Given the description of an element on the screen output the (x, y) to click on. 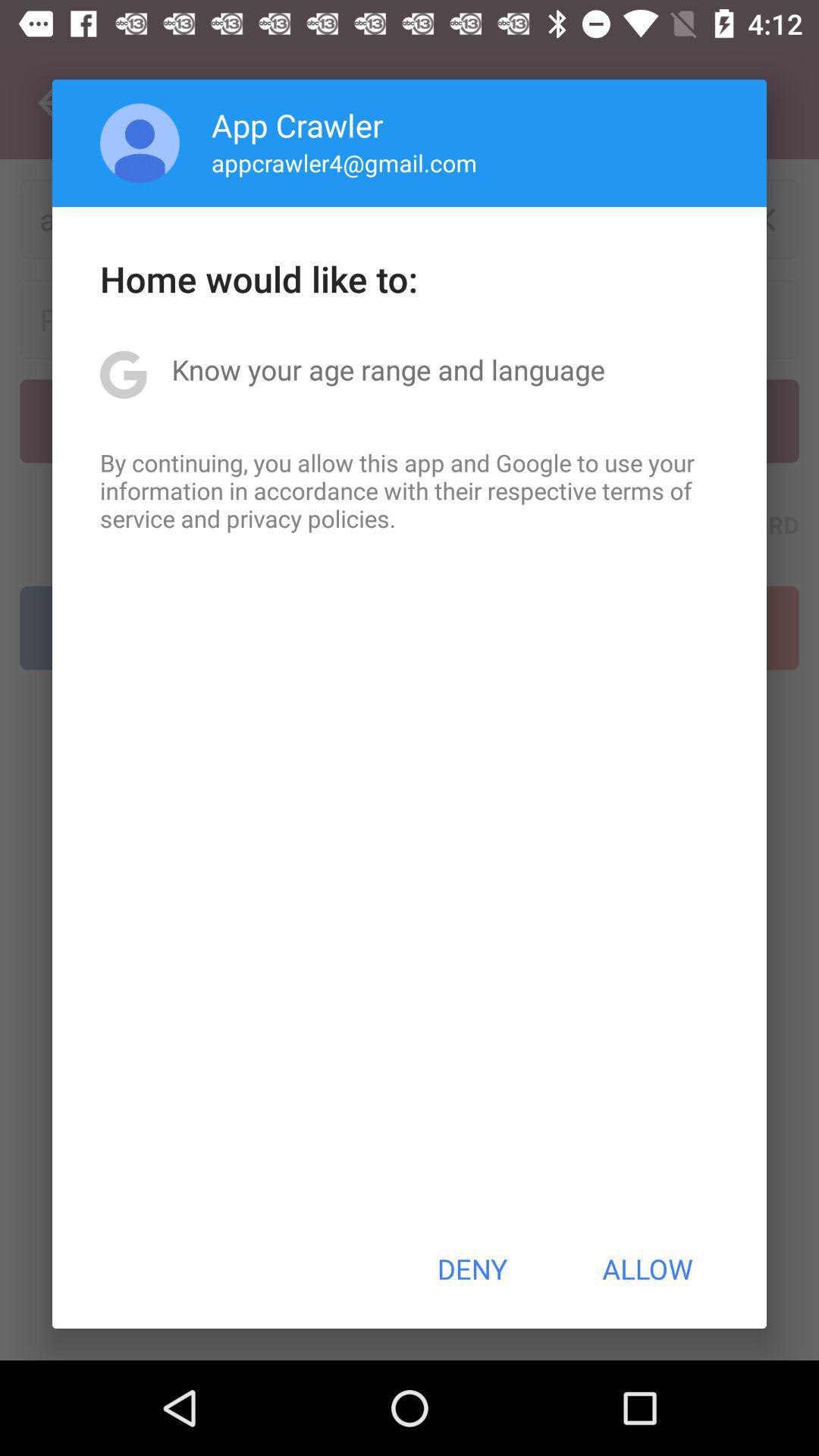
swipe until know your age icon (388, 369)
